Given the description of an element on the screen output the (x, y) to click on. 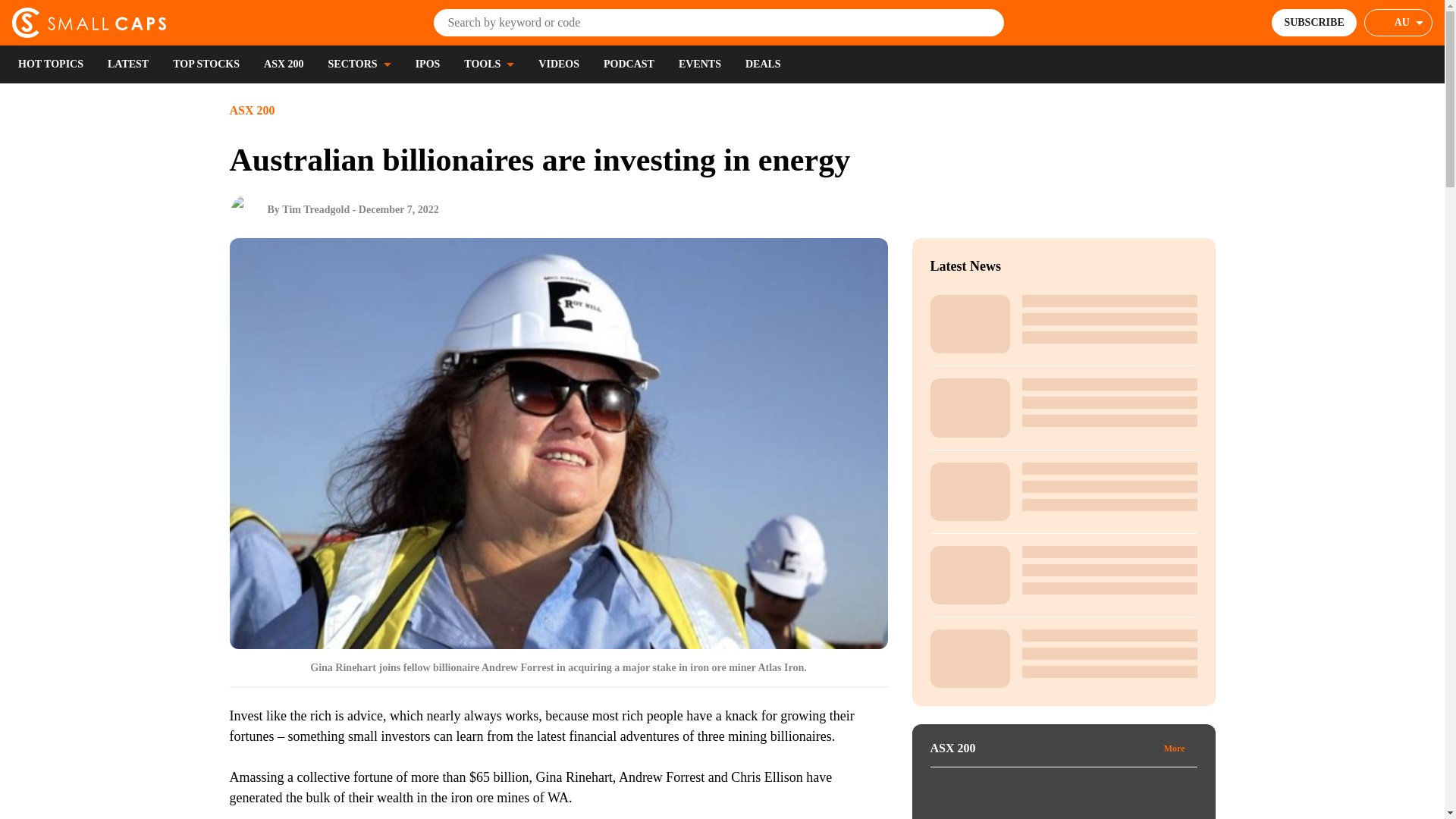
SECTORS (360, 63)
SUBSCRIBE (1313, 22)
HOT TOPICS (49, 63)
TOP STOCKS (206, 63)
Australia (1408, 22)
AU (1398, 22)
TOOLS (488, 63)
ASX 200 (283, 63)
LATEST (127, 63)
VIDEOS (558, 63)
